Given the description of an element on the screen output the (x, y) to click on. 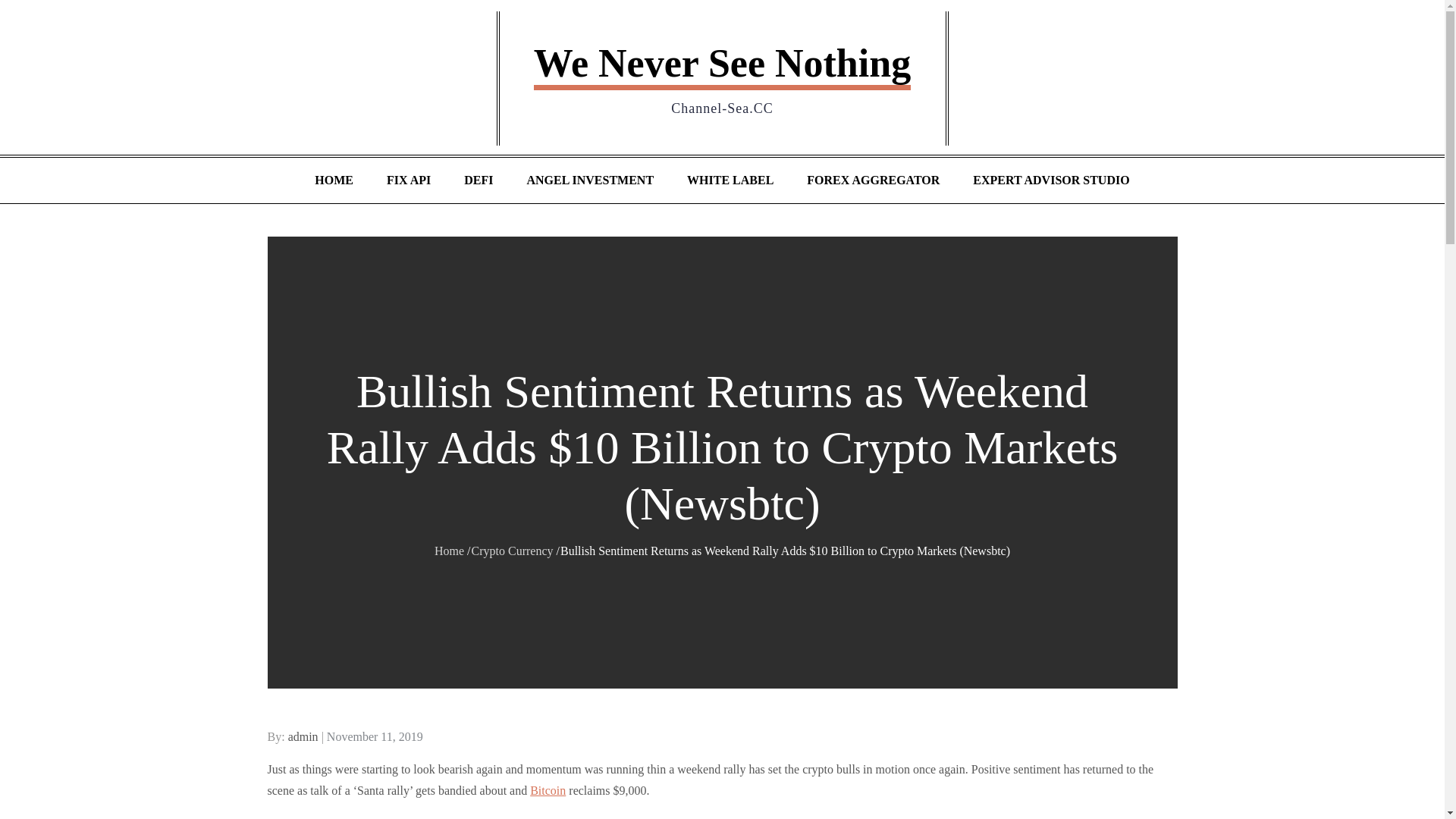
EXPERT ADVISOR STUDIO (1051, 180)
Home (448, 550)
FOREX AGGREGATOR (873, 180)
We Never See Nothing (722, 65)
WHITE LABEL (730, 180)
Bitcoin (547, 789)
November 11, 2019 (374, 736)
FIX API (408, 180)
ANGEL INVESTMENT (589, 180)
admin (303, 736)
Crypto Currency (512, 550)
DEFI (478, 180)
HOME (333, 180)
